Given the description of an element on the screen output the (x, y) to click on. 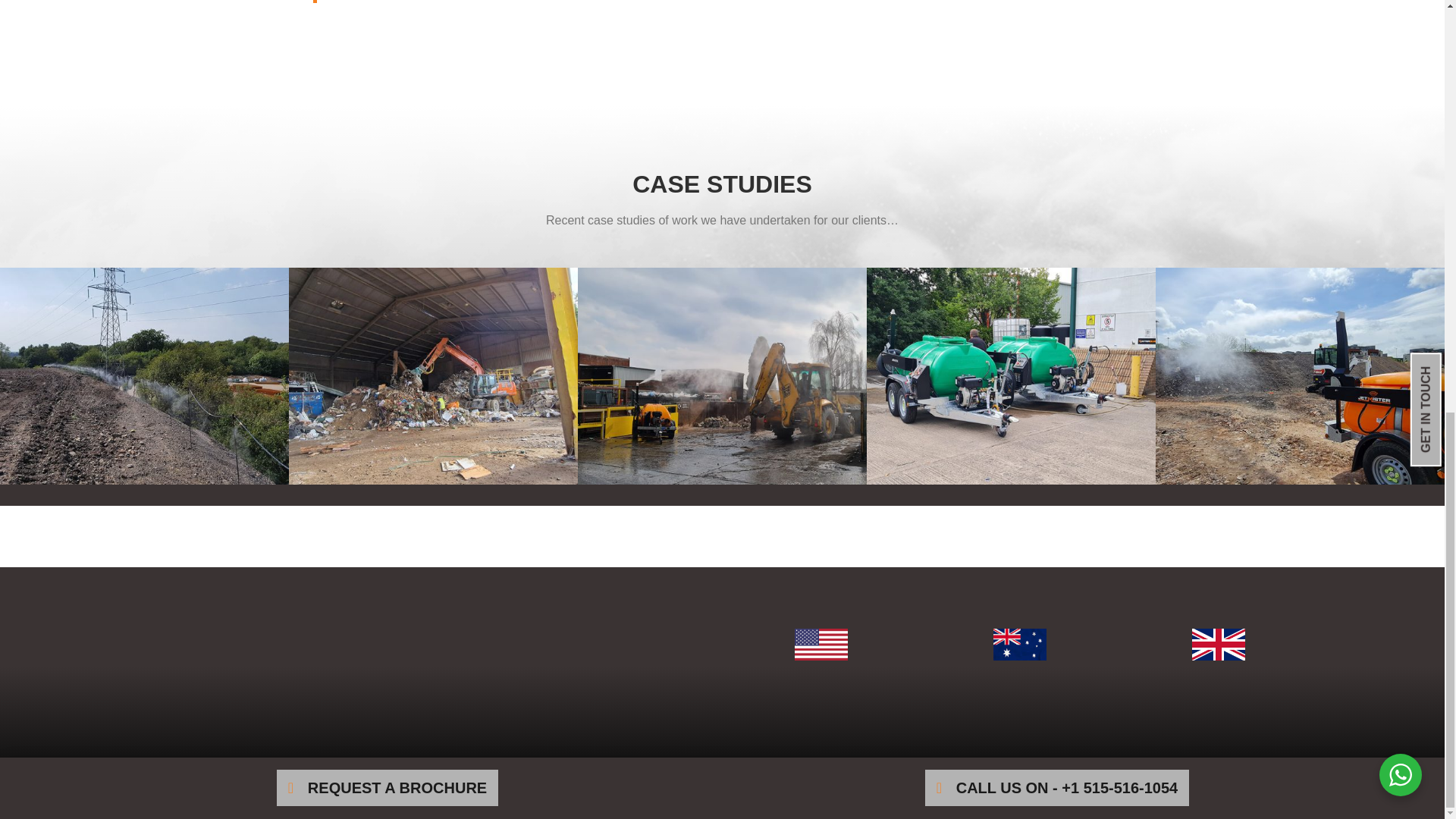
Australia (1019, 644)
USA (820, 644)
UK (1218, 644)
